Given the description of an element on the screen output the (x, y) to click on. 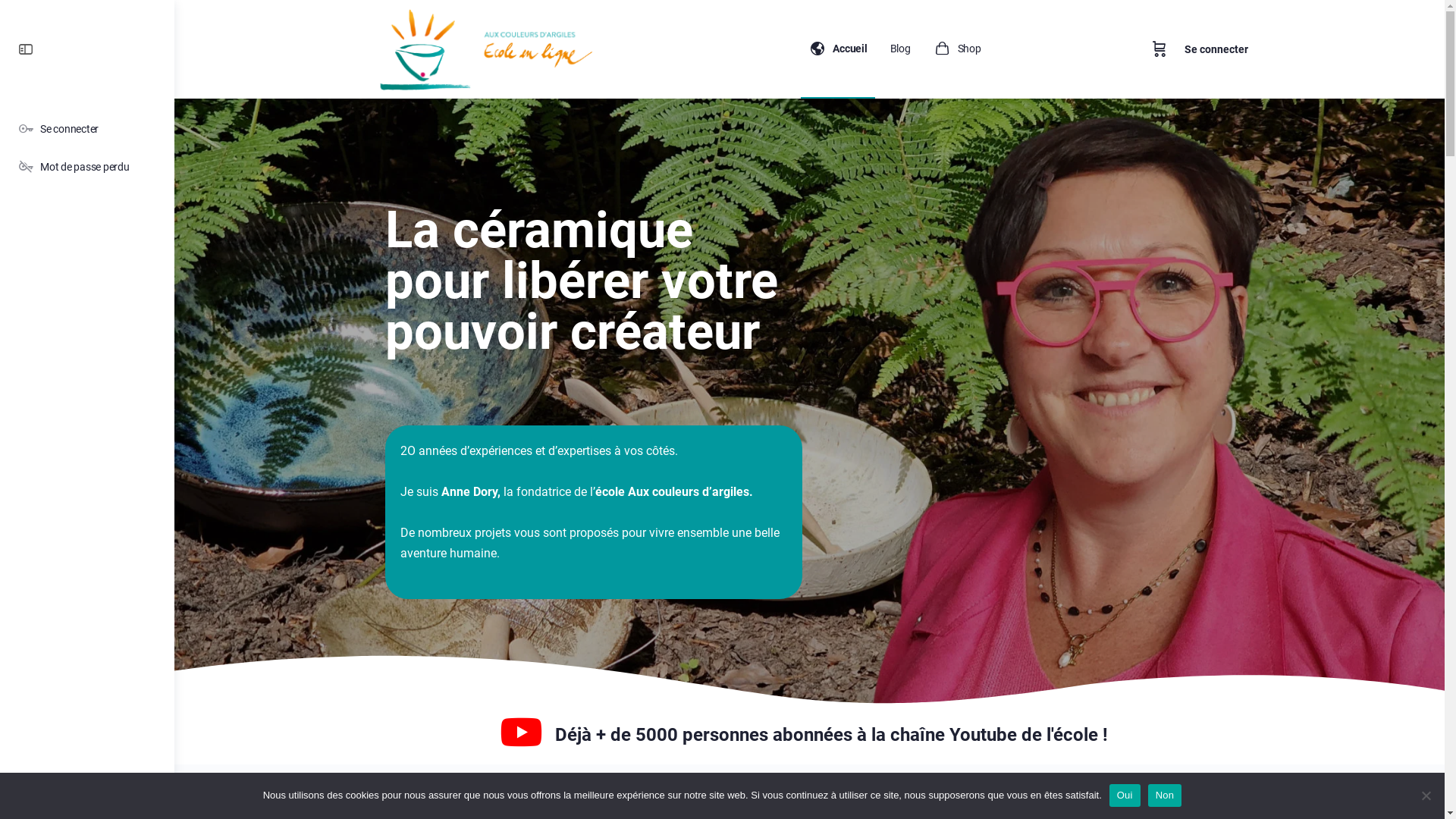
Shop Element type: text (956, 49)
Accueil Element type: text (837, 49)
Oui Element type: text (1124, 795)
Non Element type: hover (1425, 795)
Se connecter Element type: text (86, 128)
Se connecter Element type: text (1216, 48)
Mot de passe perdu Element type: text (86, 166)
Blog Element type: text (900, 49)
Non Element type: text (1165, 795)
